Given the description of an element on the screen output the (x, y) to click on. 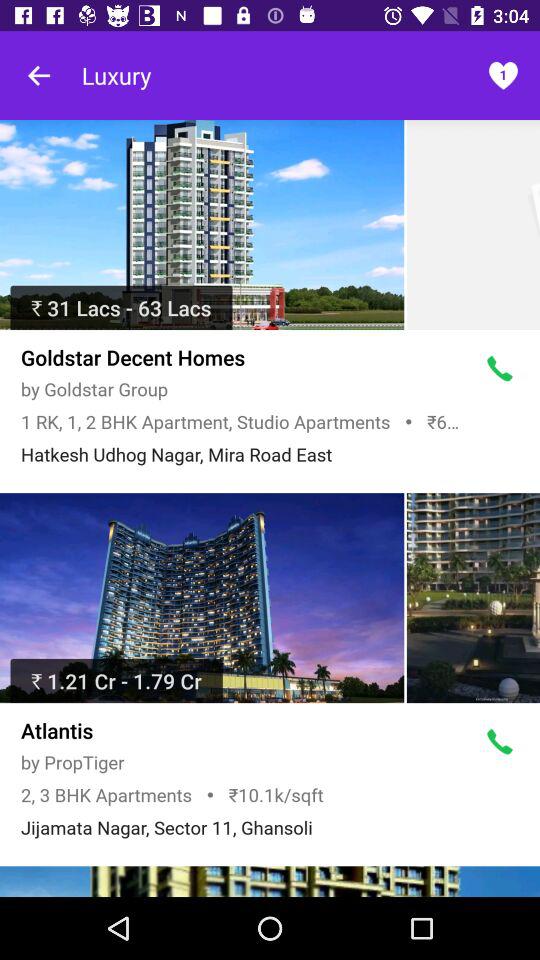
button to call the business (500, 369)
